Given the description of an element on the screen output the (x, y) to click on. 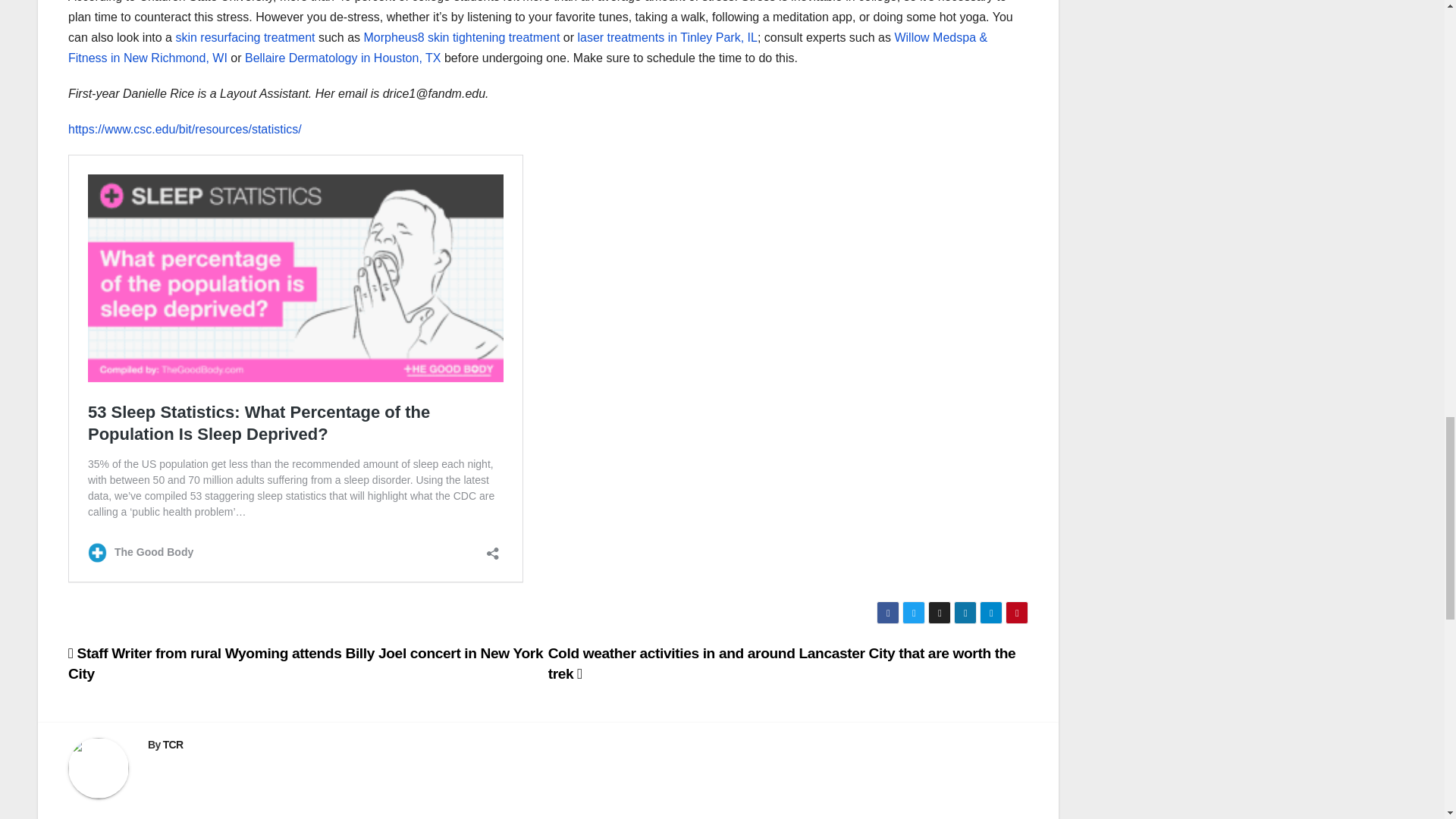
Bellaire Dermatology in Houston, TX (342, 57)
laser treatments in Tinley Park, IL (666, 37)
skin resurfacing treatment (244, 37)
Morpheus8 skin tightening treatment (462, 37)
